Given the description of an element on the screen output the (x, y) to click on. 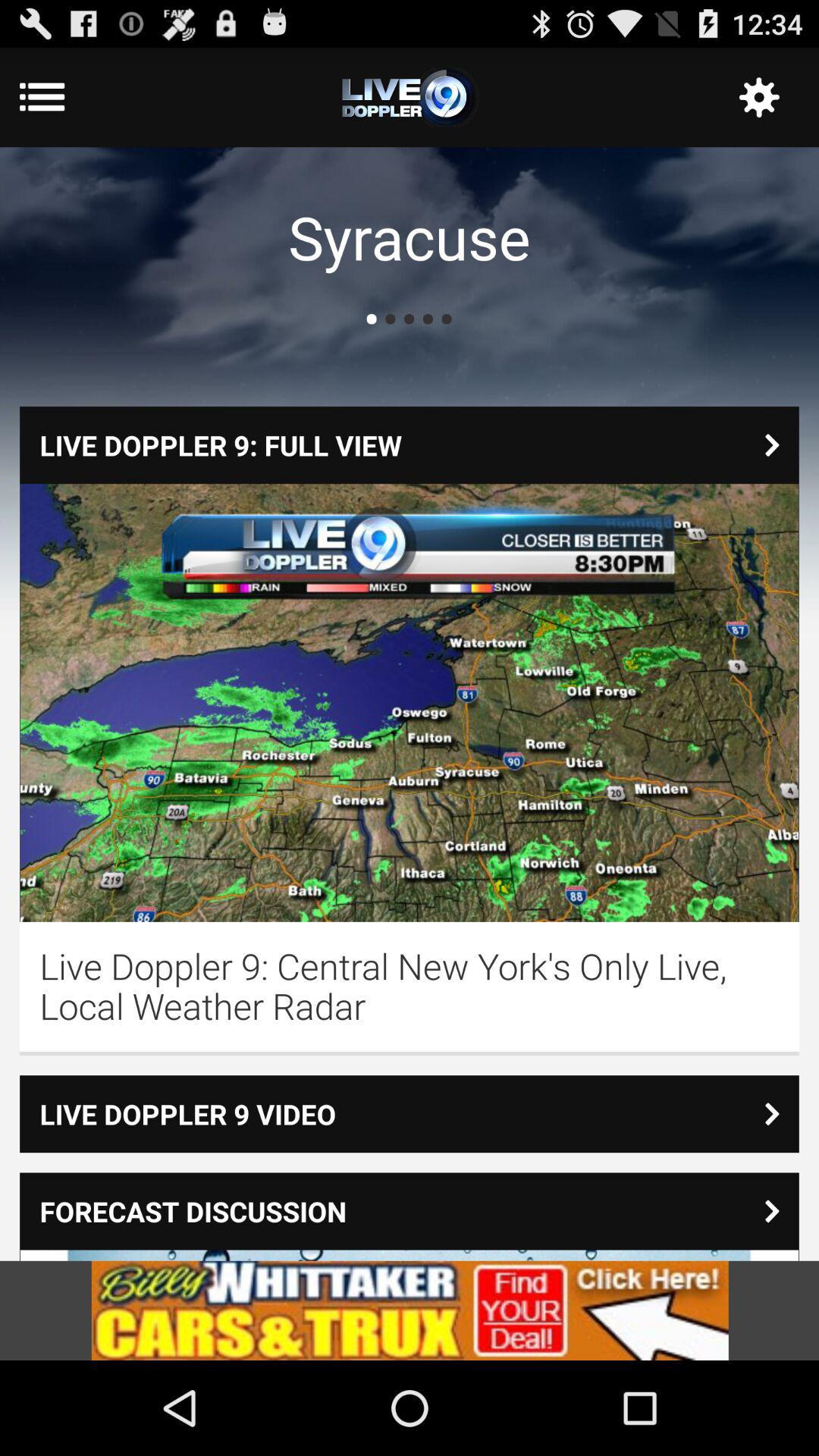
click advertisement (409, 1310)
